Given the description of an element on the screen output the (x, y) to click on. 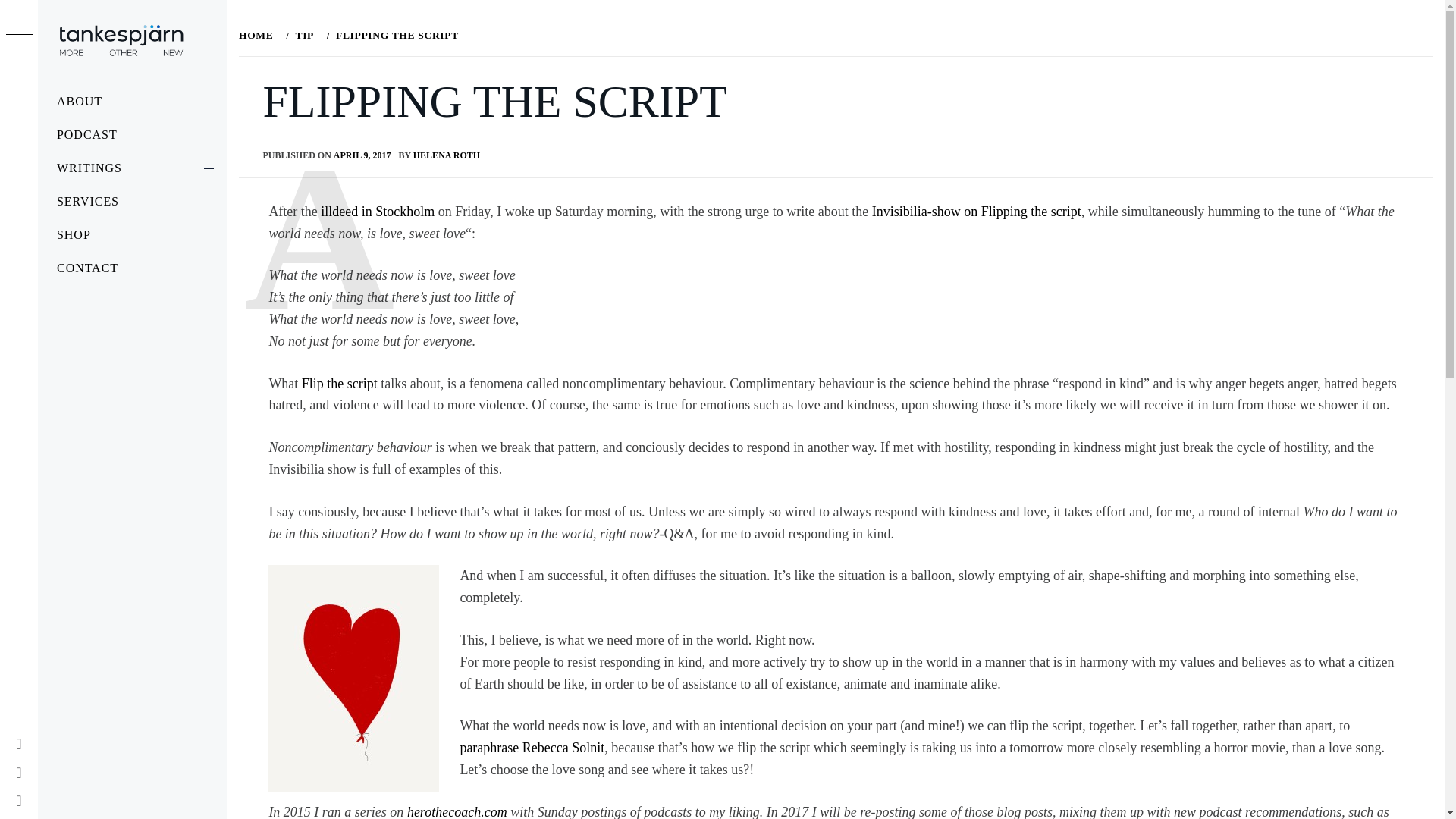
HELENA ROTH (446, 154)
ABOUT (132, 101)
illdeed in Stockholm (379, 211)
Flip the script (341, 383)
CONTACT (132, 268)
TANKESPJARN (157, 75)
PODCAST (132, 134)
paraphrase Rebecca Solnit (532, 747)
SHOP (132, 234)
WRITINGS (132, 168)
